Given the description of an element on the screen output the (x, y) to click on. 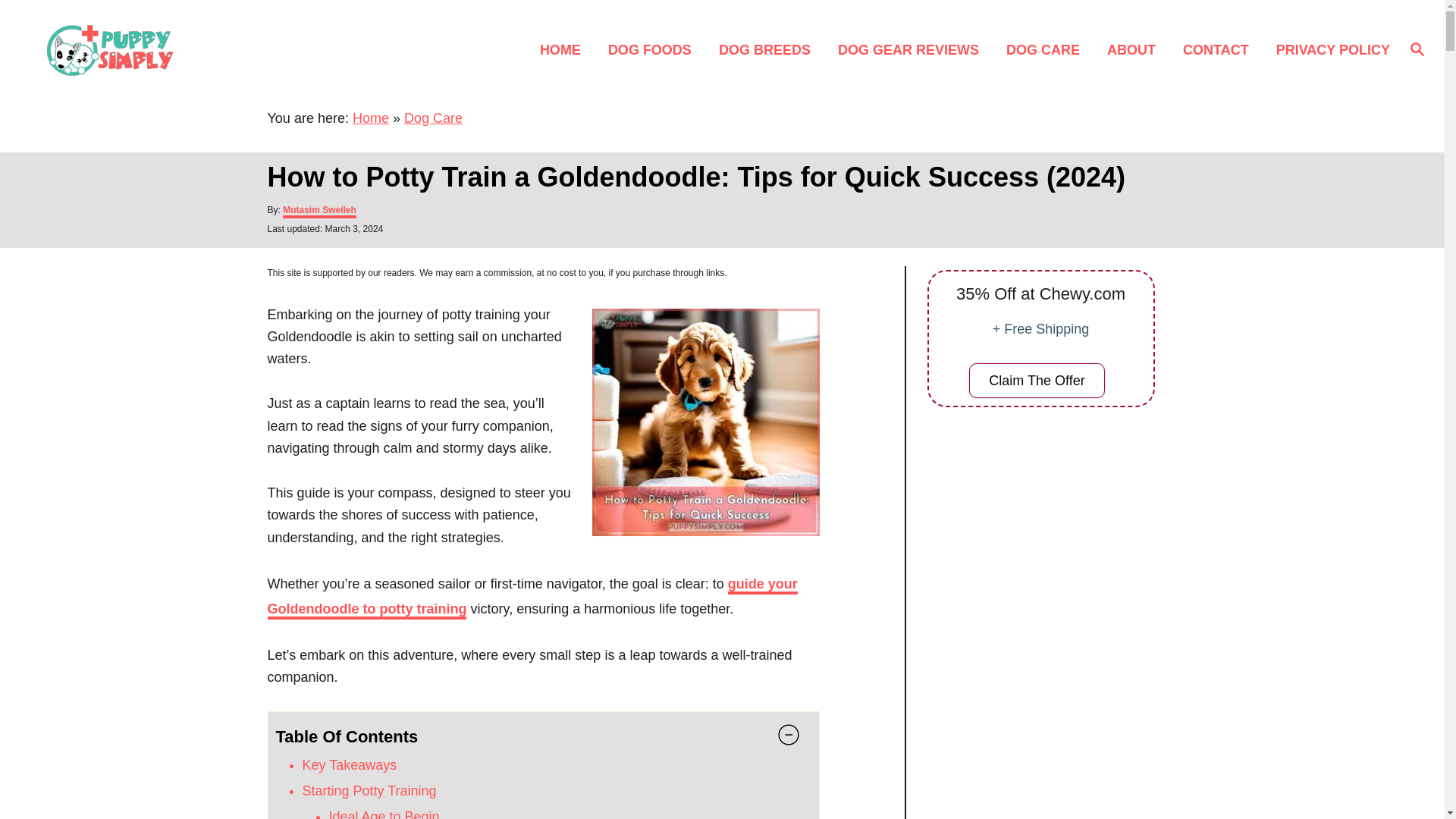
DOG FOODS (654, 49)
DOG BREEDS (769, 49)
DOG GEAR REVIEWS (912, 49)
PuppySimply (204, 49)
Mutasim Sweileh (319, 211)
Dog Care (433, 118)
Key Takeaways (348, 765)
DOG CARE (1047, 49)
ABOUT (1135, 49)
CONTACT (1219, 49)
